Given the description of an element on the screen output the (x, y) to click on. 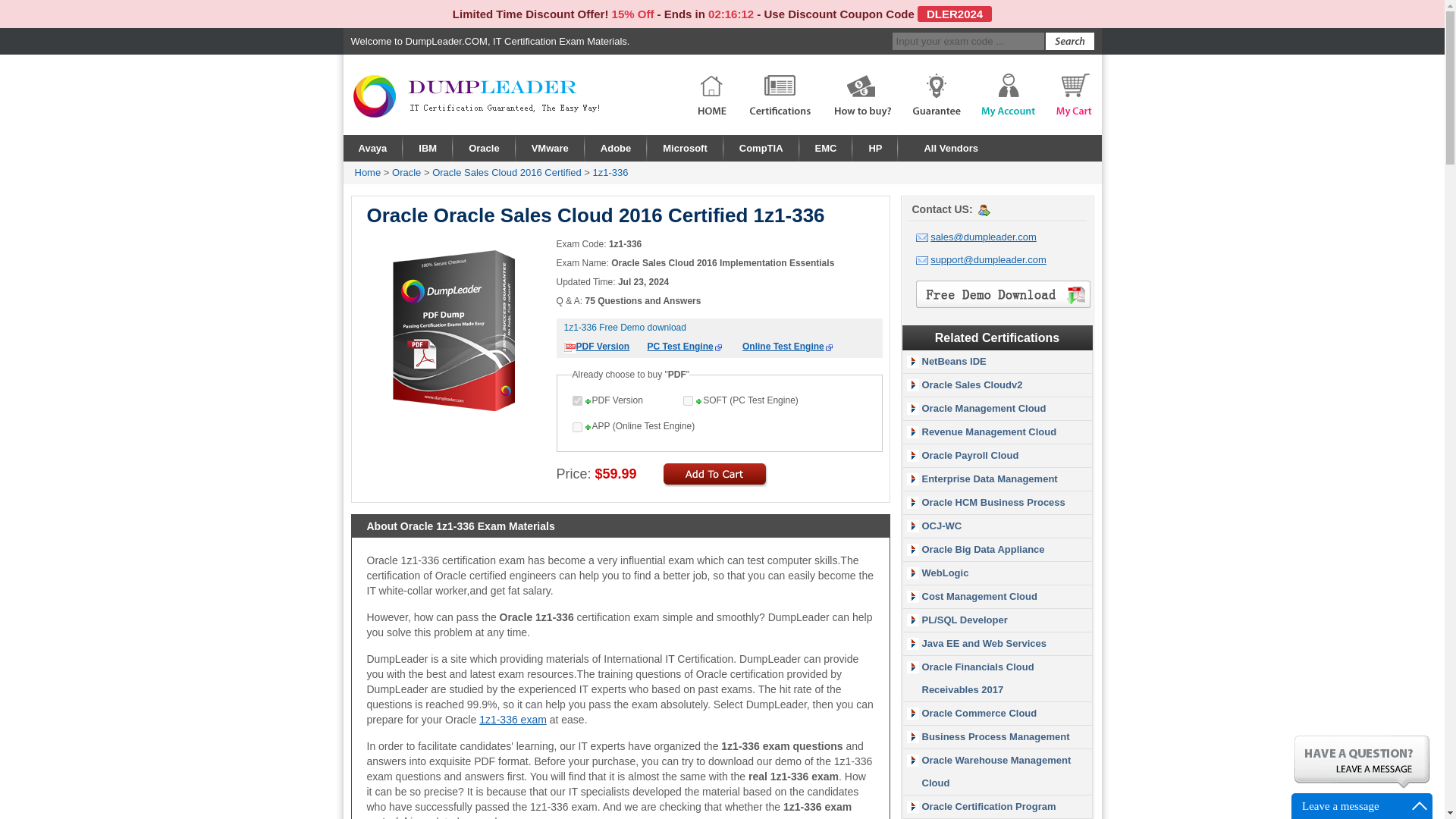
APP (576, 427)
Cost Management Cloud (978, 595)
Oracle Big Data Appliance (983, 549)
Input your exam code ... (967, 40)
OCJ-WC (941, 525)
Oracle HCM Business Process (993, 501)
CompTIA (761, 148)
Avaya (372, 148)
HP (875, 148)
SOFT (687, 400)
Enterprise Data Management (989, 478)
VMware (550, 148)
Revenue Management Cloud (989, 431)
Microsoft (685, 148)
Maximize (1419, 805)
